Given the description of an element on the screen output the (x, y) to click on. 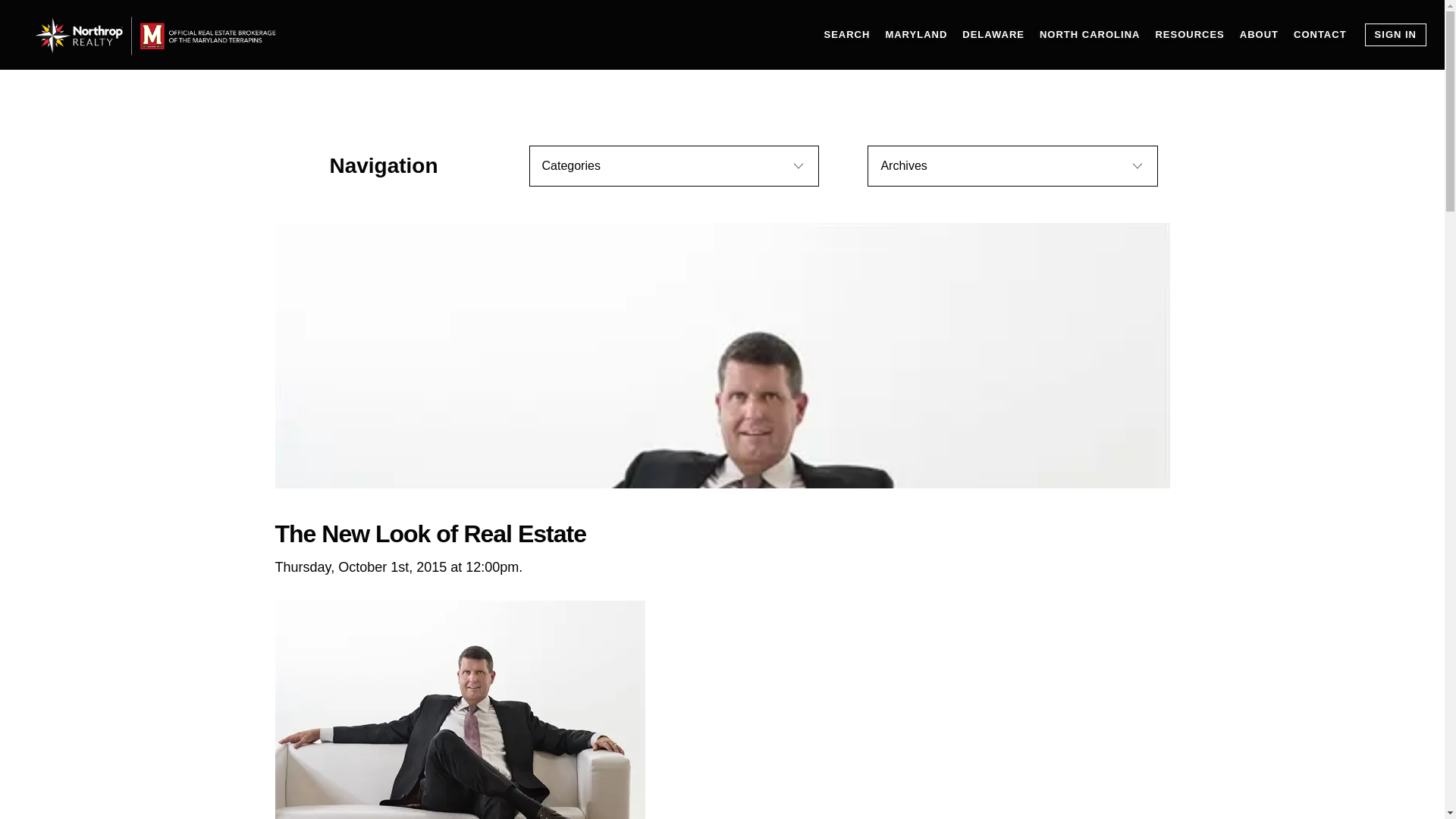
MARYLAND (916, 34)
SEARCH (846, 34)
DELAWARE (993, 34)
NORTH CAROLINA (1089, 34)
RESOURCES (1189, 34)
